Given the description of an element on the screen output the (x, y) to click on. 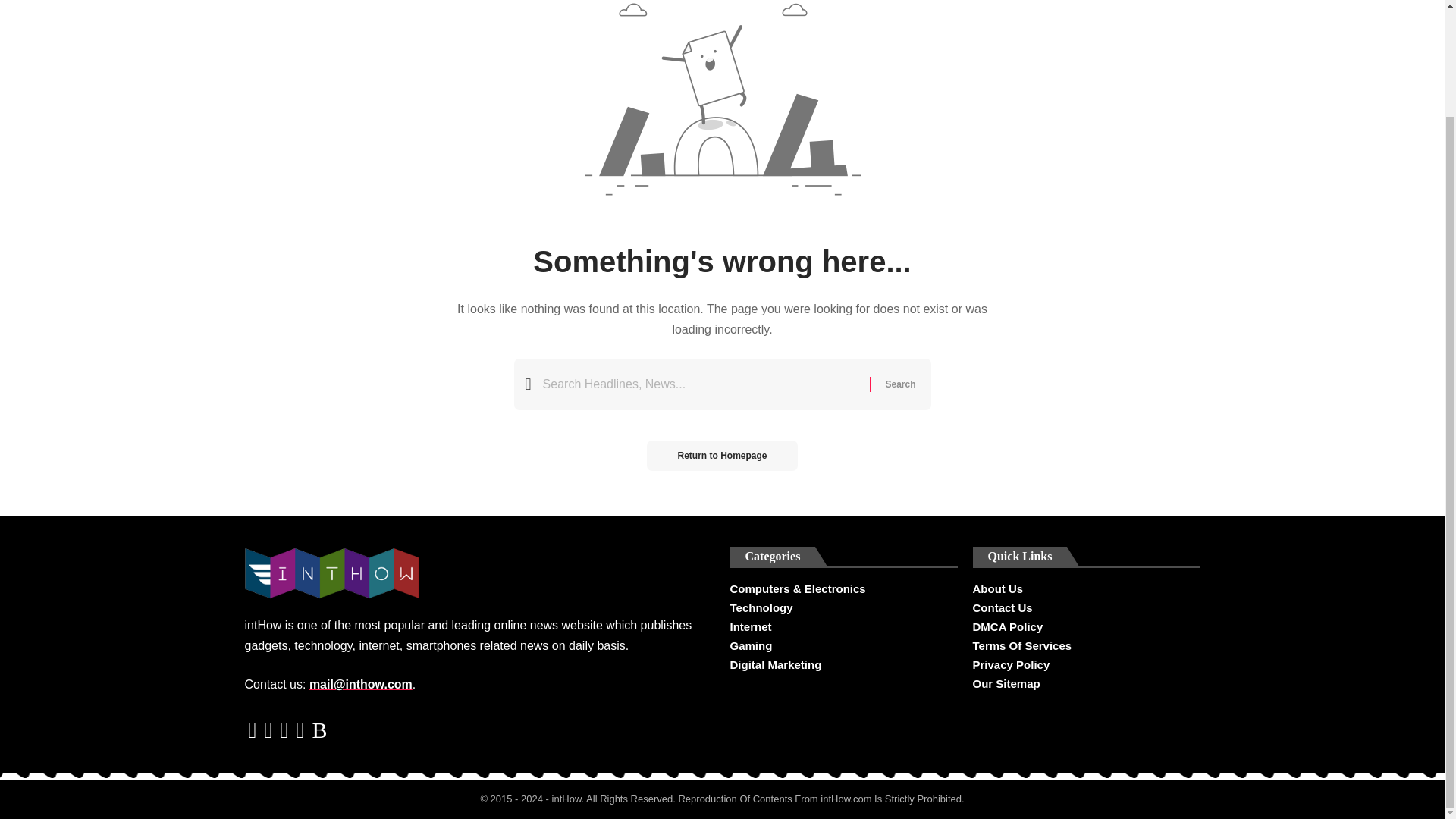
Our Sitemap (1085, 683)
intHow (565, 798)
Contact Us (1085, 607)
Search (899, 383)
Terms Of Services (1085, 645)
About Us (1085, 590)
Gaming (842, 645)
Internet (842, 626)
DMCA Policy (1085, 626)
Return to Homepage (721, 455)
